Given the description of an element on the screen output the (x, y) to click on. 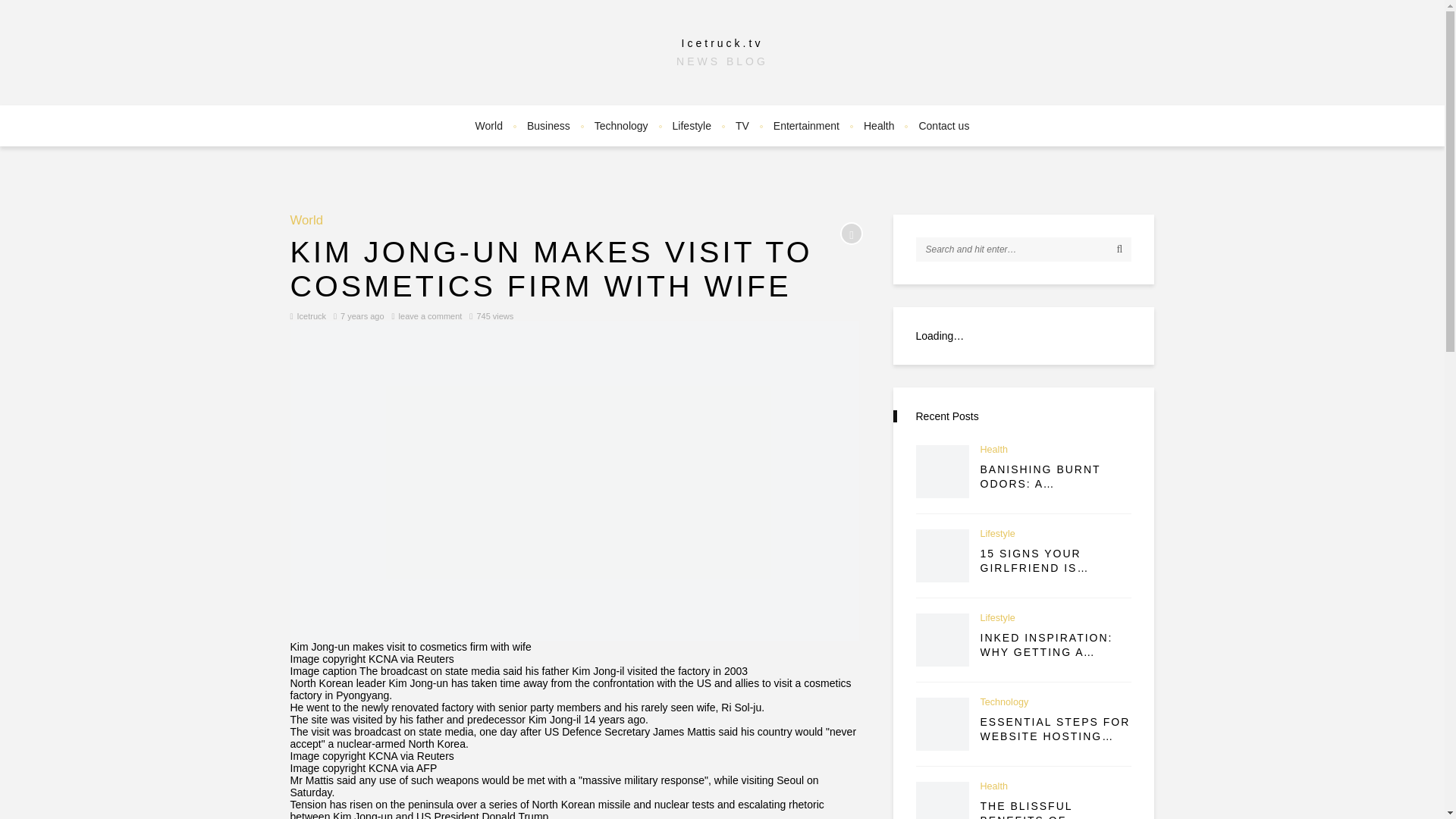
Contact us (943, 125)
leave a comment (430, 316)
World (306, 220)
World (306, 220)
Health (878, 125)
Lifestyle (692, 125)
Entertainment (806, 125)
World (488, 125)
Business (548, 125)
